Given the description of an element on the screen output the (x, y) to click on. 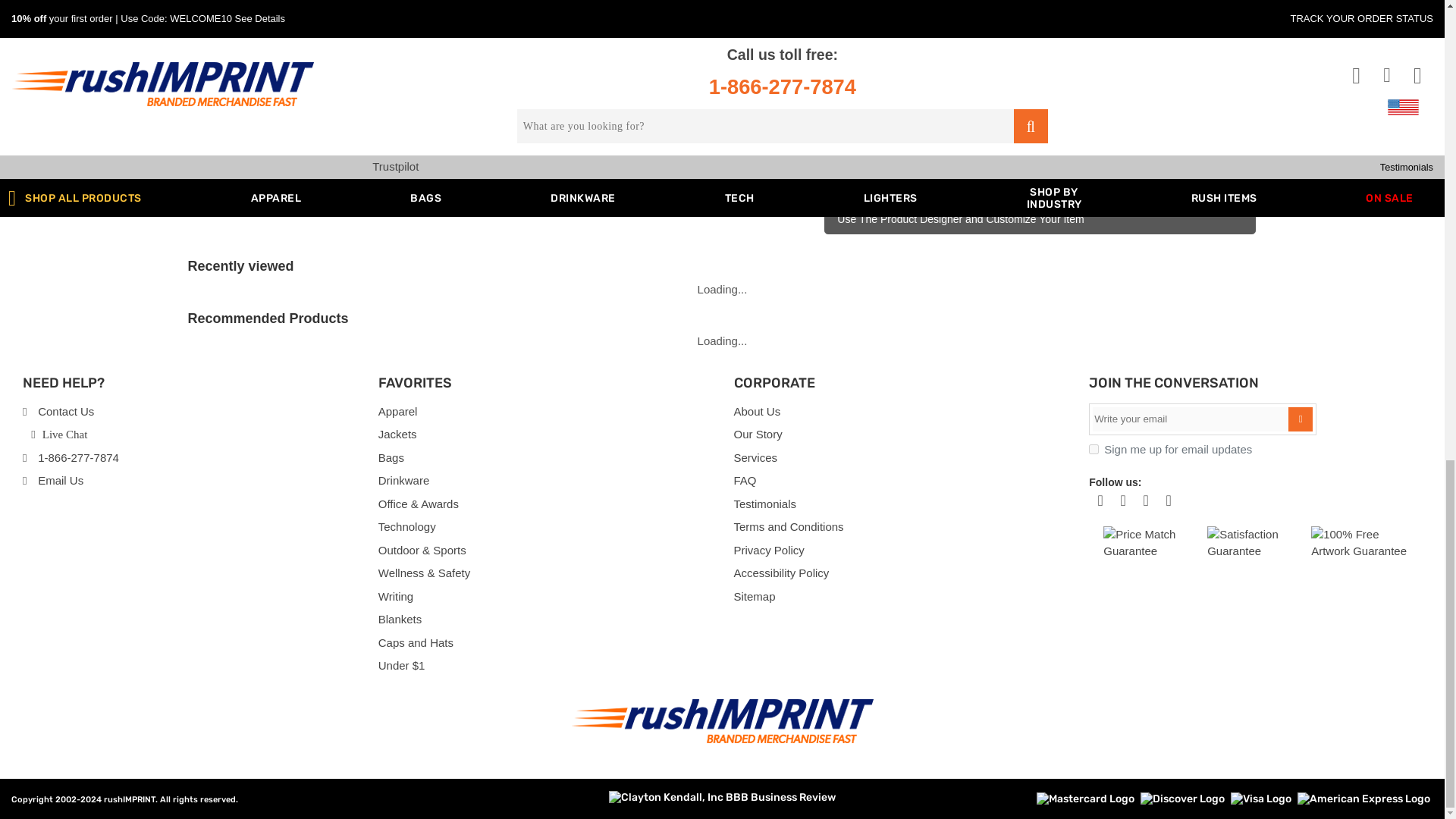
subscribe (1094, 449)
